Given the description of an element on the screen output the (x, y) to click on. 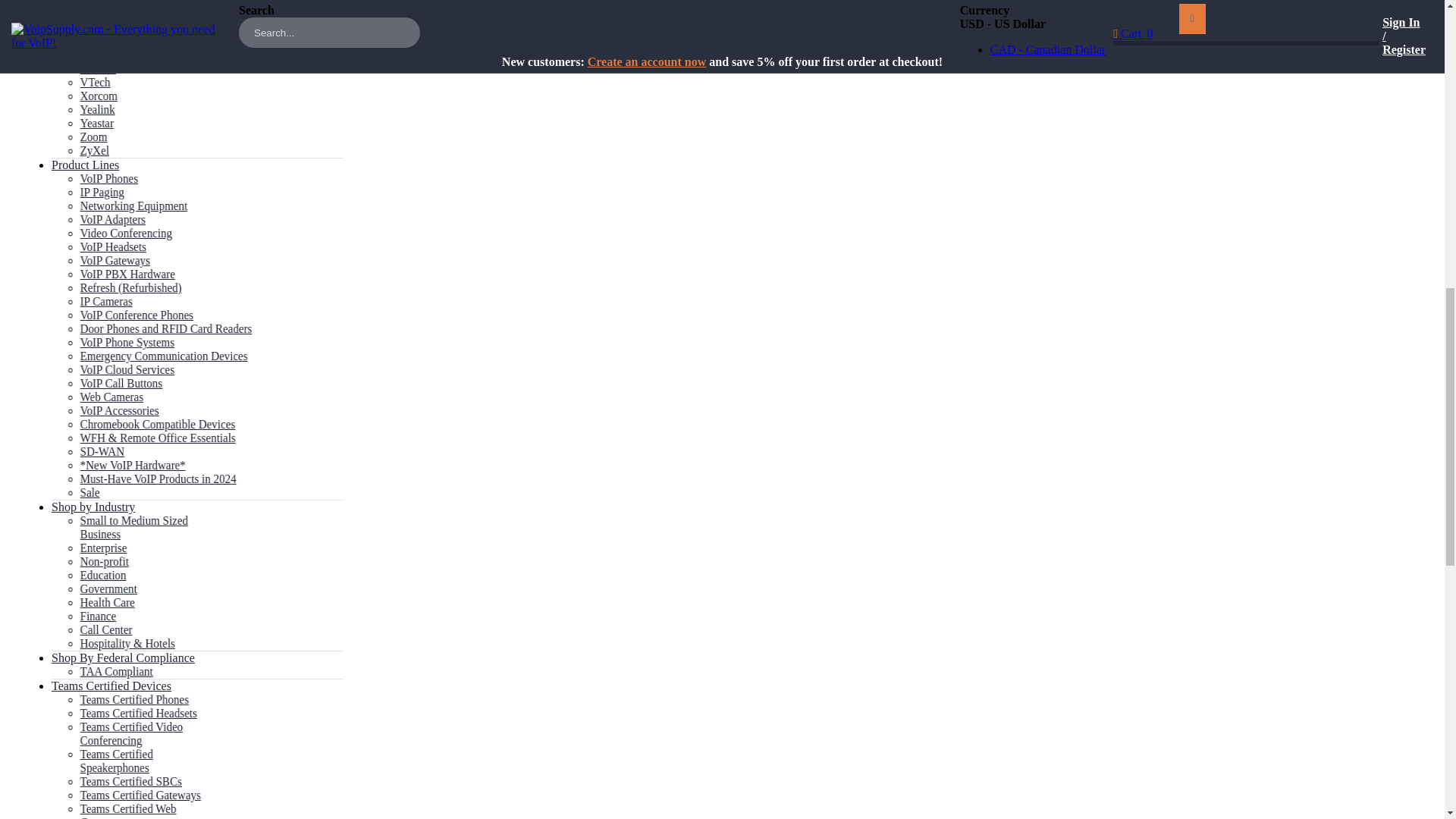
Sign in with Live (414, 61)
Sign in with LinkedIn (428, 47)
Sign in with Google (424, 33)
